Given the description of an element on the screen output the (x, y) to click on. 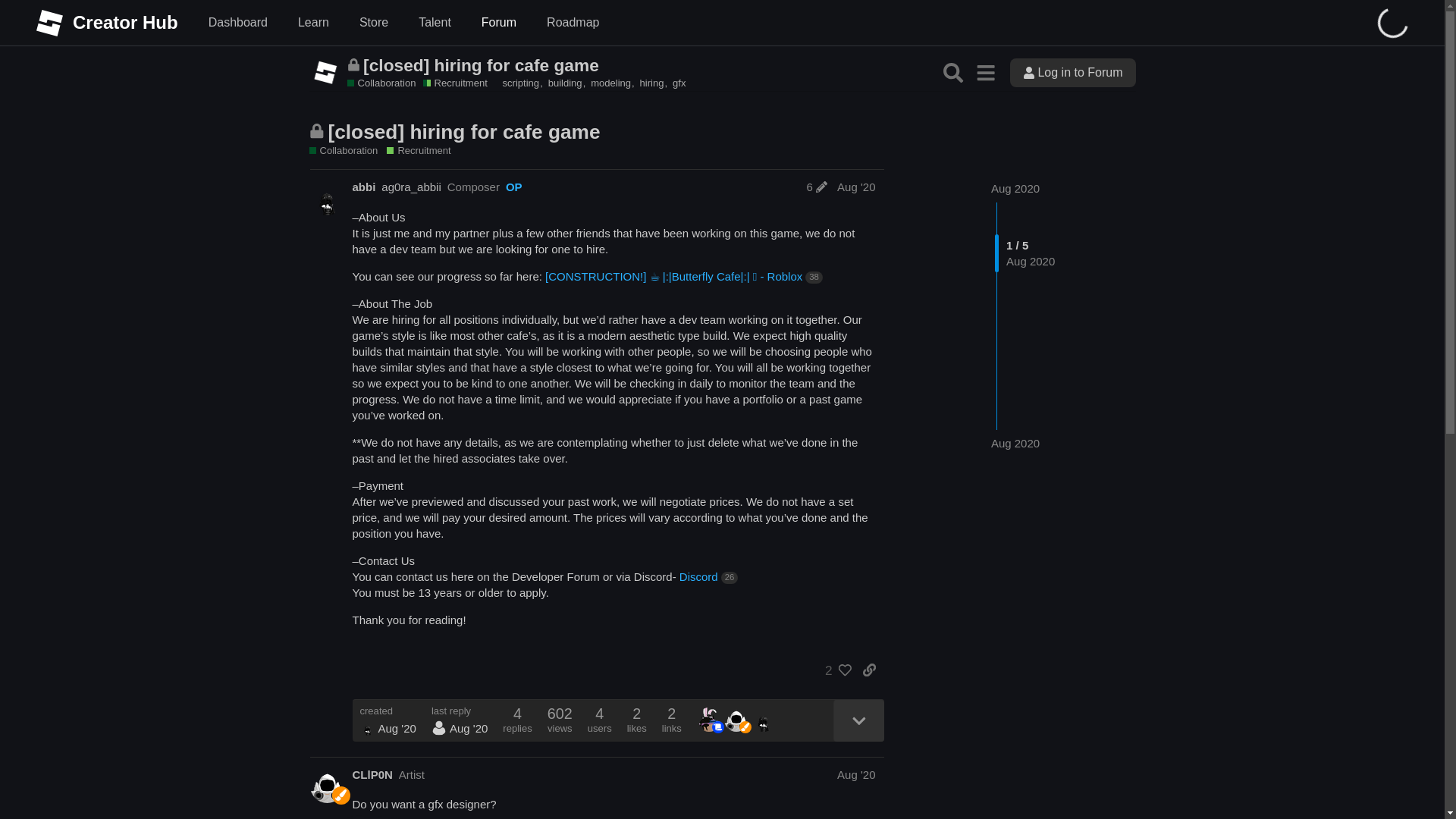
gfx (678, 82)
menu (985, 71)
Aug 2020 (1015, 187)
Discord 26 (708, 576)
26 clicks (729, 577)
Dashboard (237, 22)
Collaboration (381, 82)
2 people liked this post (833, 670)
Post date (856, 186)
